Given the description of an element on the screen output the (x, y) to click on. 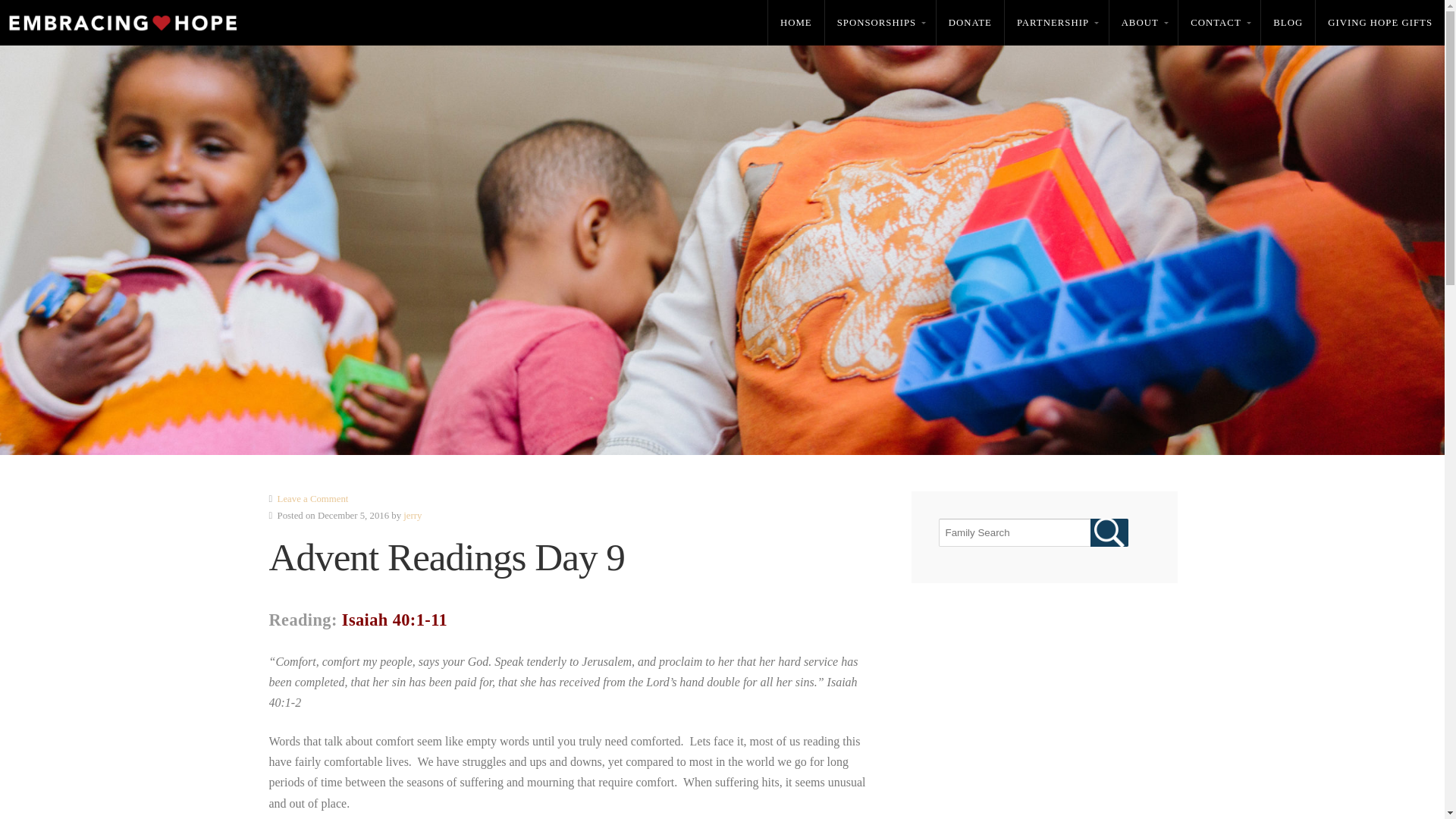
HOME (796, 22)
DONATE (970, 22)
Leave a Comment (313, 498)
CONTACT (1218, 22)
Leave a Comment (313, 498)
BLOG (1287, 22)
Isaiah 40:1-11 (394, 619)
jerry (412, 515)
PARTNERSHIP (1056, 22)
SPONSORSHIPS (880, 22)
Posts by jerry (412, 515)
ABOUT (1143, 22)
Click to Read. (394, 619)
